Given the description of an element on the screen output the (x, y) to click on. 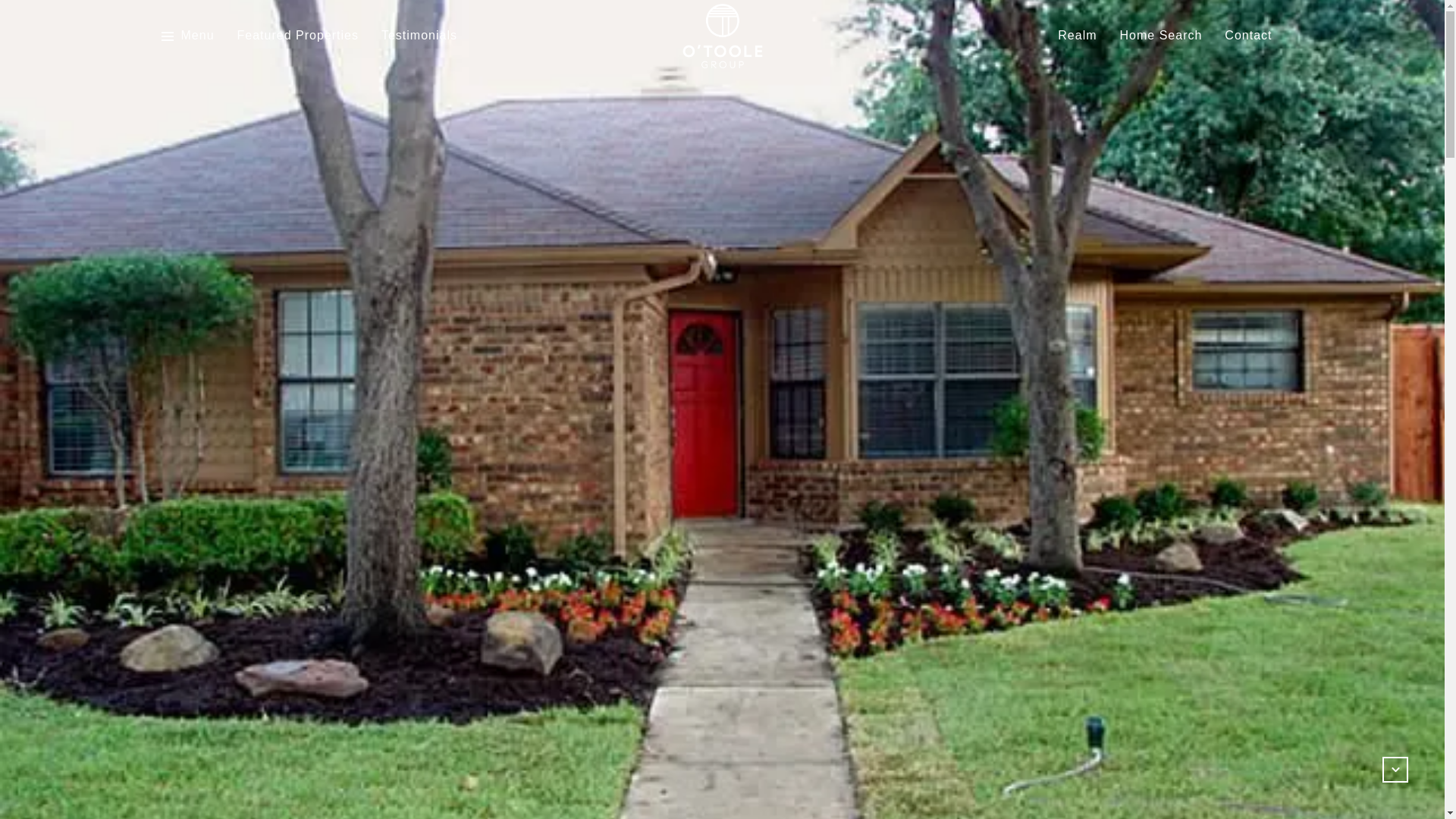
Testimonials (419, 35)
Home Search (1160, 35)
Menu (187, 35)
Featured Properties (297, 35)
Menu (197, 35)
Realm (1077, 35)
Contact (1247, 35)
